Given the description of an element on the screen output the (x, y) to click on. 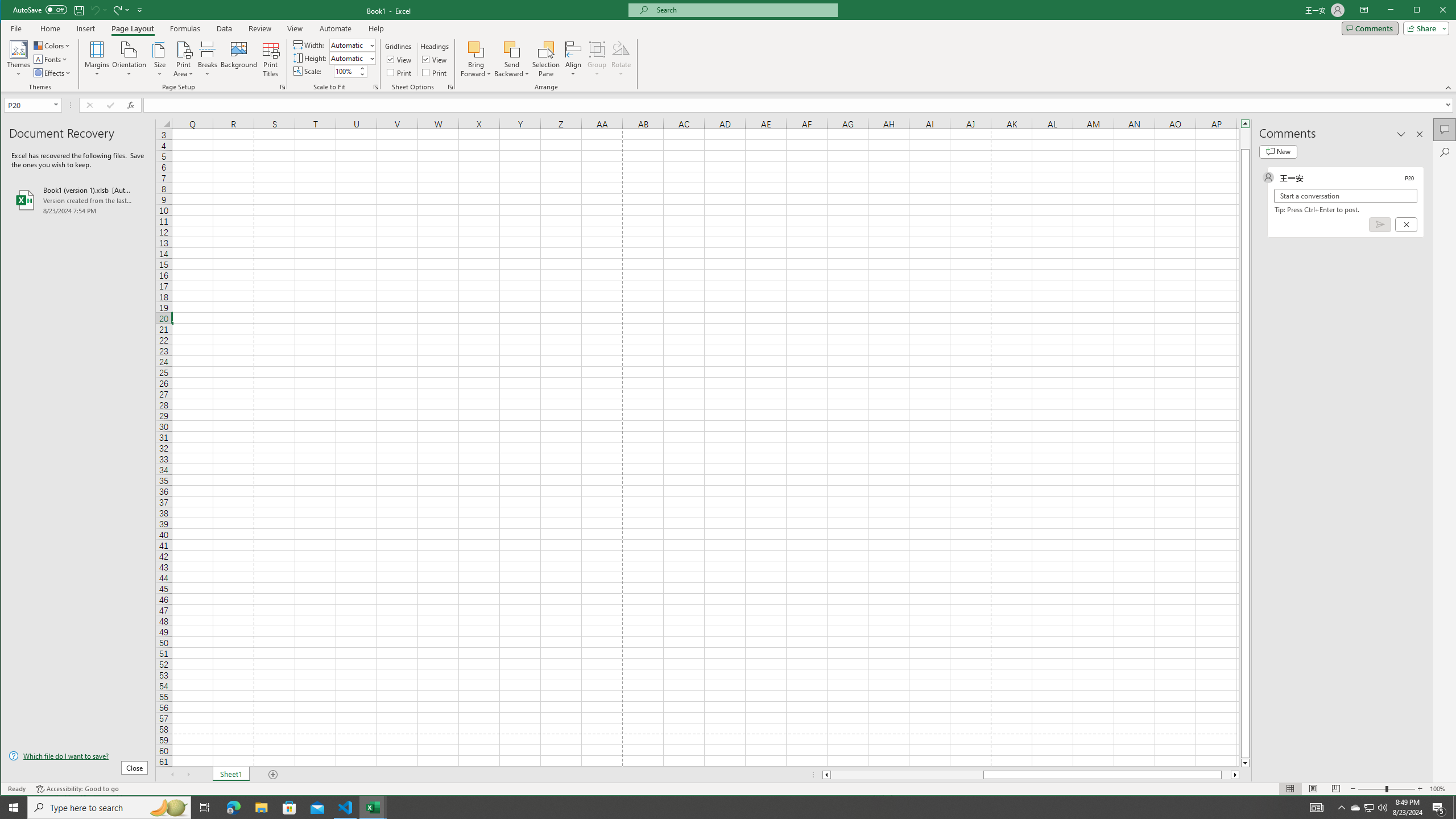
Task View (204, 807)
User Promoted Notification Area (1368, 807)
Excel - 2 running windows (373, 807)
Fonts (51, 59)
Background... (239, 59)
Page up (1245, 138)
Close pane (1419, 133)
Search (1444, 151)
Print Area (183, 59)
Scale (345, 71)
